Given the description of an element on the screen output the (x, y) to click on. 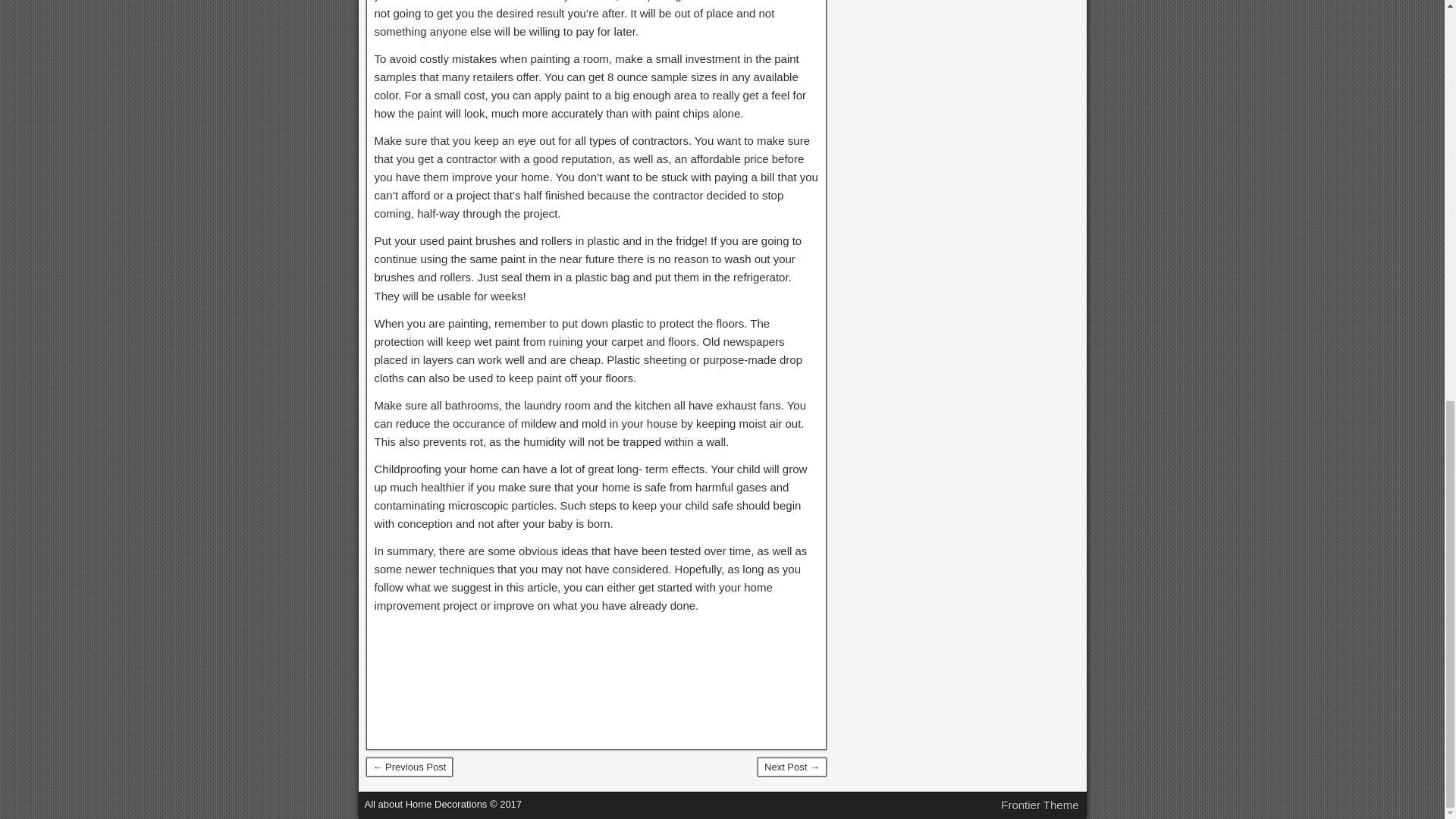
Home Remodeling Made Easy: Tips And Tricks (792, 767)
Frontier Theme (1039, 804)
Tips That Make Sense Of Your Basement Remodeling Project (408, 767)
Advertisement (596, 679)
